Given the description of an element on the screen output the (x, y) to click on. 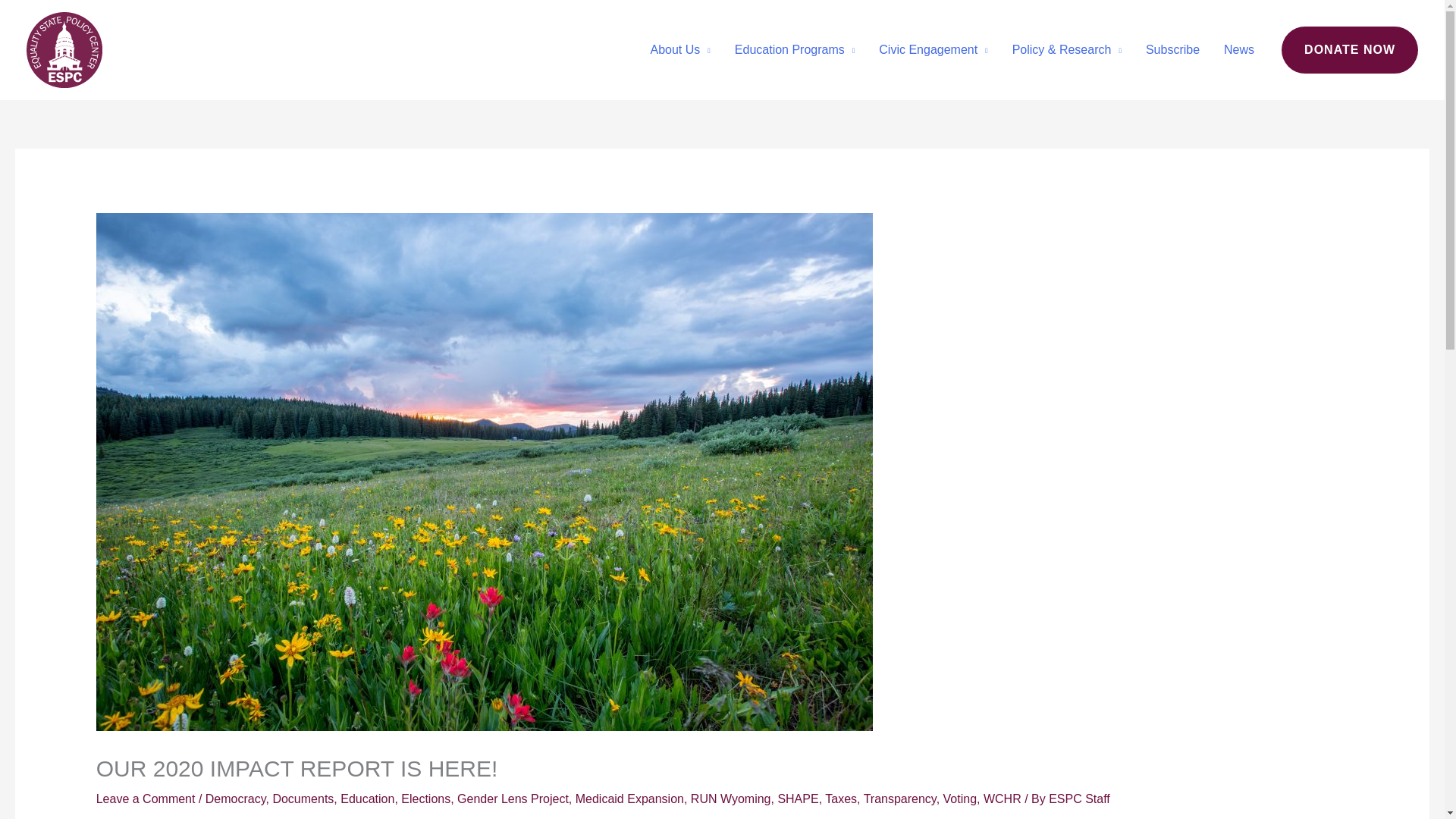
Subscribe (1172, 49)
About Us (680, 49)
News (1238, 49)
Education Programs (794, 49)
Civic Engagement (932, 49)
View all posts by ESPC Staff (1078, 798)
DONATE NOW (1349, 49)
